Given the description of an element on the screen output the (x, y) to click on. 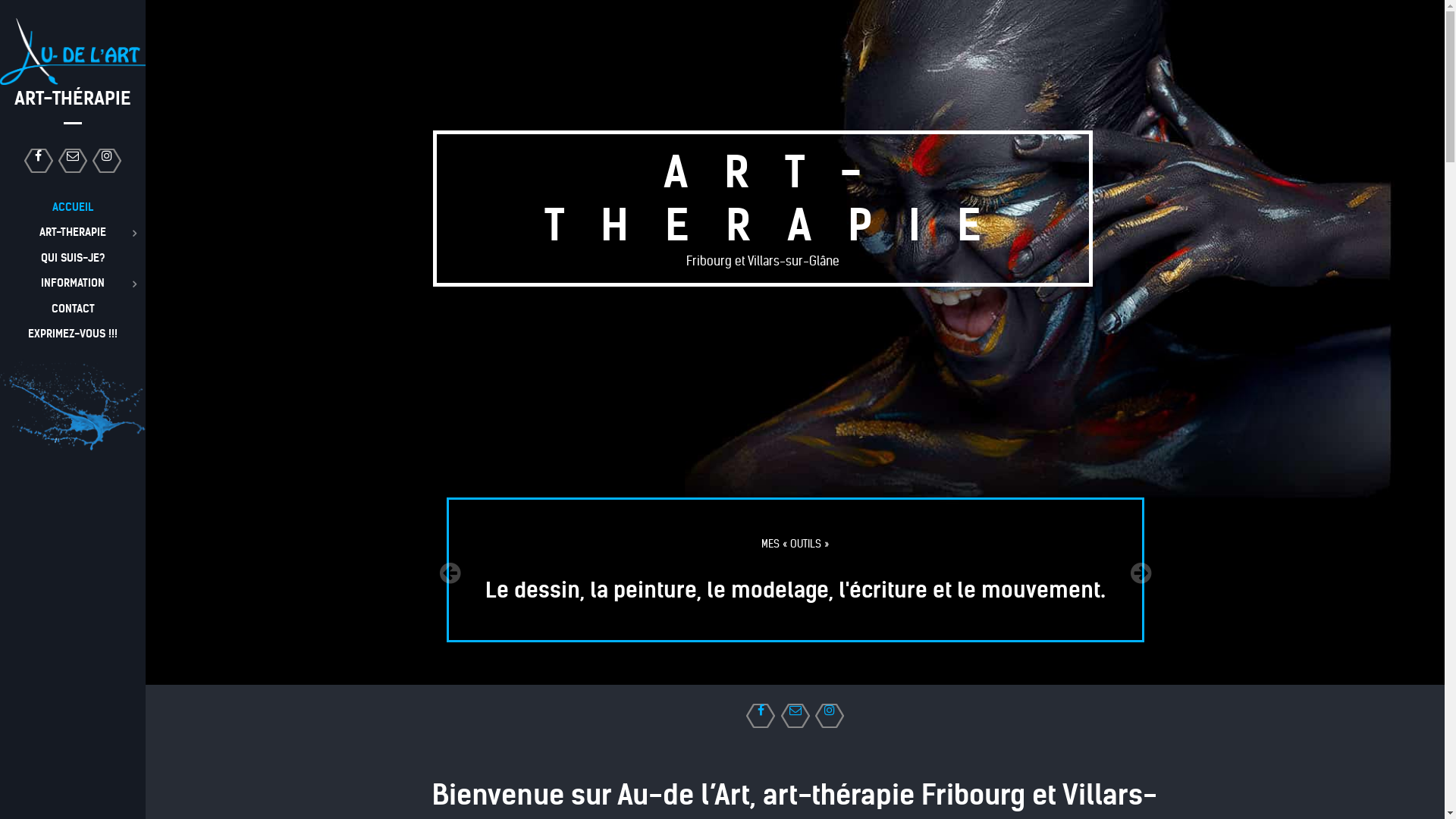
QUI SUIS-JE? Element type: text (72, 257)
ACCUEIL Element type: text (72, 206)
CONTACT Element type: text (72, 308)
EXPRIMEZ-VOUS !!! Element type: text (72, 333)
